Given the description of an element on the screen output the (x, y) to click on. 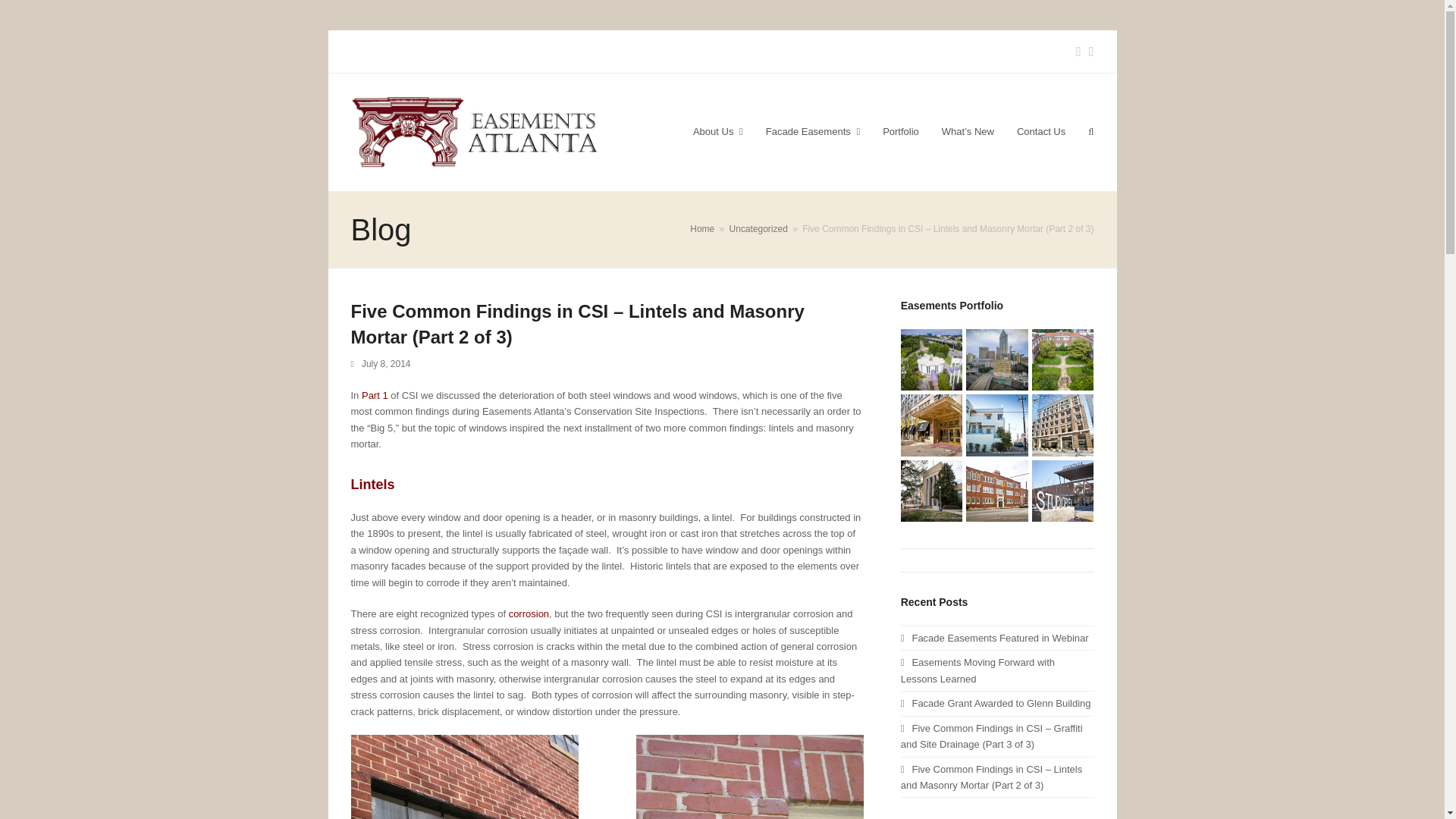
Part 1 (374, 395)
Facade Easements (812, 131)
Portfolio (900, 131)
Wigwam Condominiums (996, 424)
StudioPlex (1063, 491)
About Us (717, 131)
corrosion (528, 613)
Telephone Factory Lofts (931, 491)
Contact Us (1041, 131)
Walton Place (1063, 424)
Medical Arts Building (996, 360)
Winnwood Apartments (1063, 360)
Trust Company of Georgia Northeast Freeway Branch (931, 360)
Home (702, 228)
Uncategorized (758, 228)
